Given the description of an element on the screen output the (x, y) to click on. 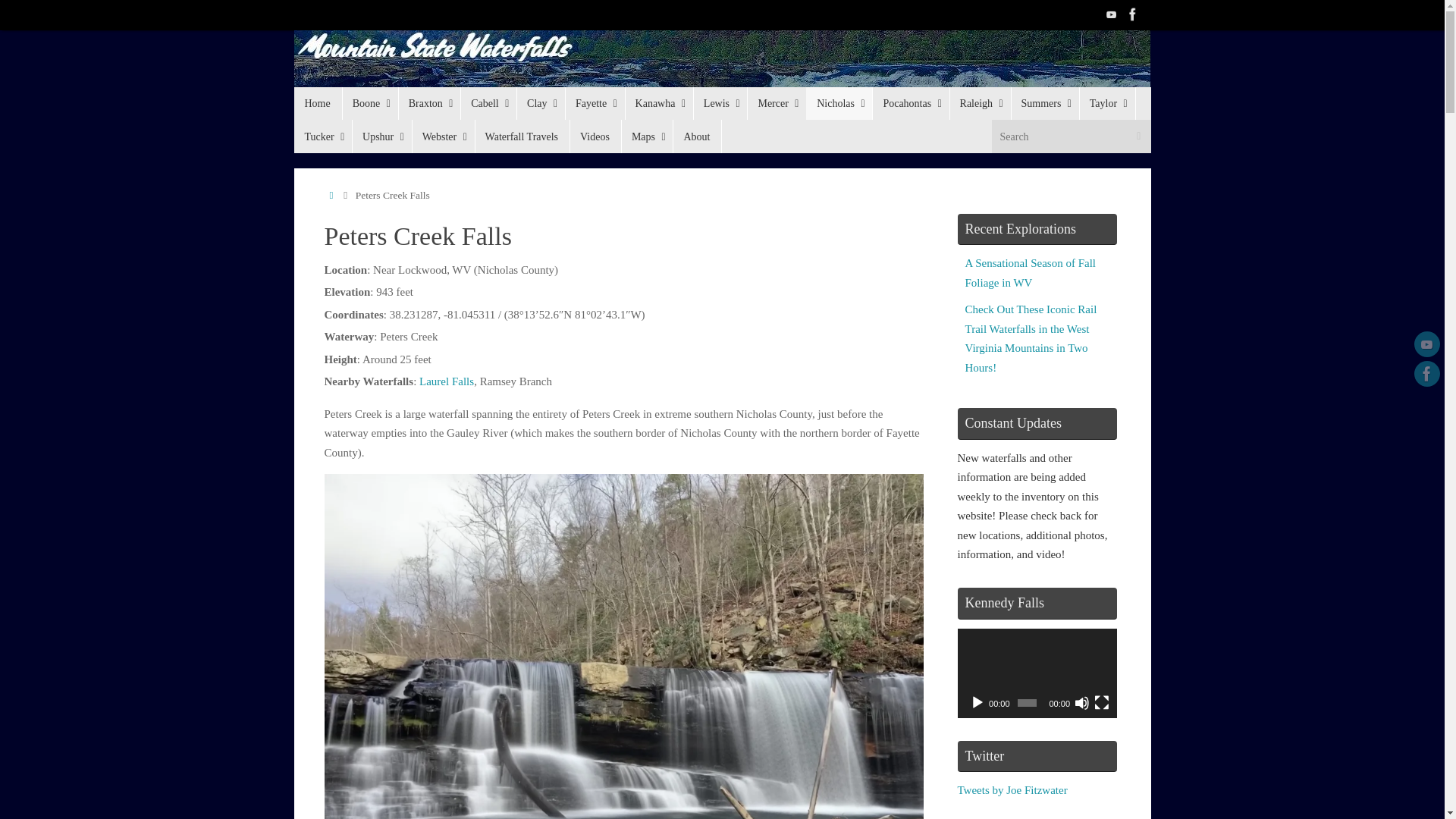
Boone (369, 102)
Fayette (594, 102)
Clay (540, 102)
Play (976, 702)
Home (318, 102)
Joe Fitzwater Meteorologist (1132, 14)
Joe Fitzwater Meteorologist (1426, 373)
Cabell (488, 102)
Fullscreen (1101, 702)
Braxton (429, 102)
Mute (1081, 702)
Mountain State Waterfalls Youtube (1111, 14)
Mountain State Waterfalls Youtube (1426, 344)
